Given the description of an element on the screen output the (x, y) to click on. 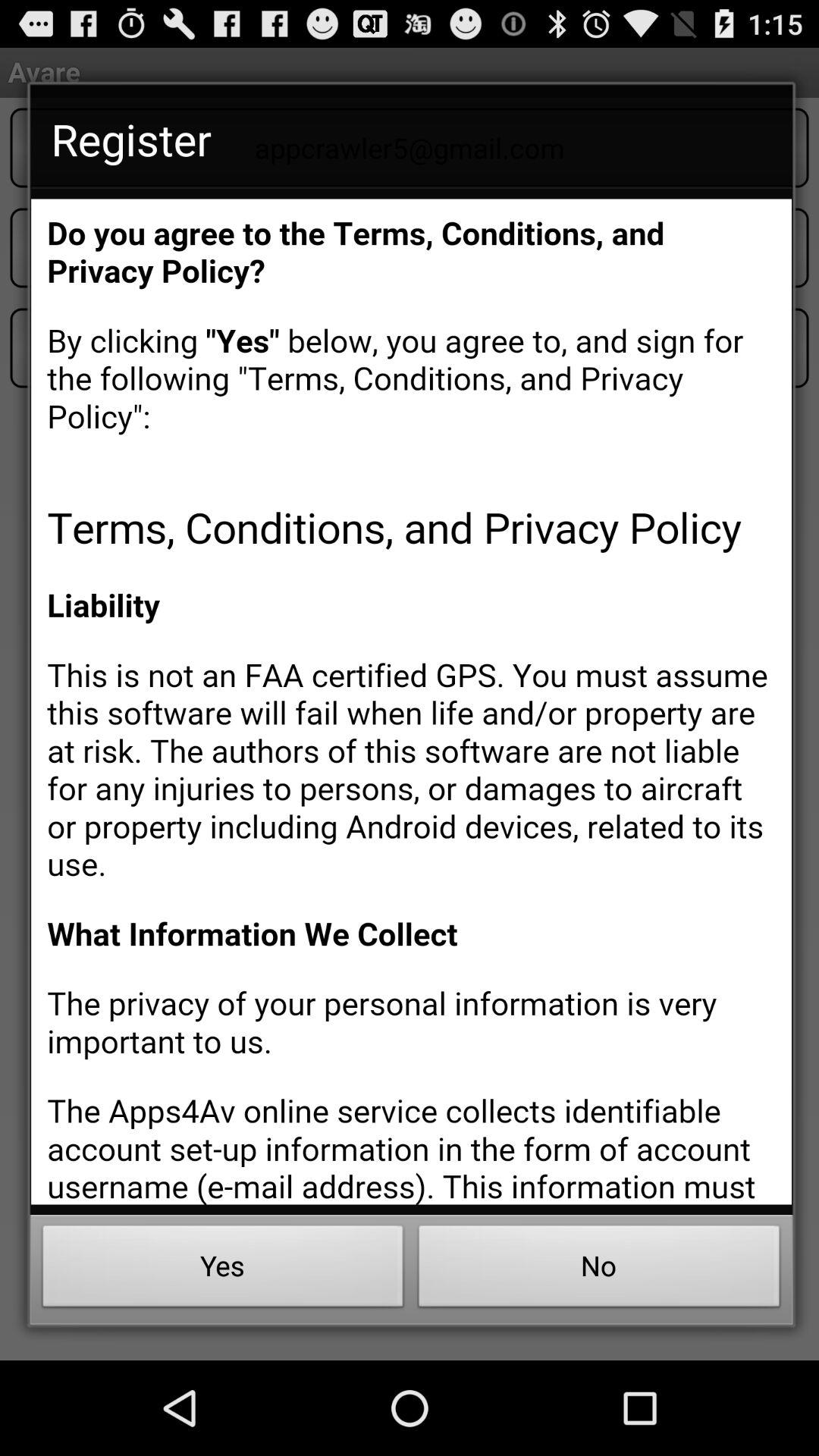
highlighting text (411, 701)
